Given the description of an element on the screen output the (x, y) to click on. 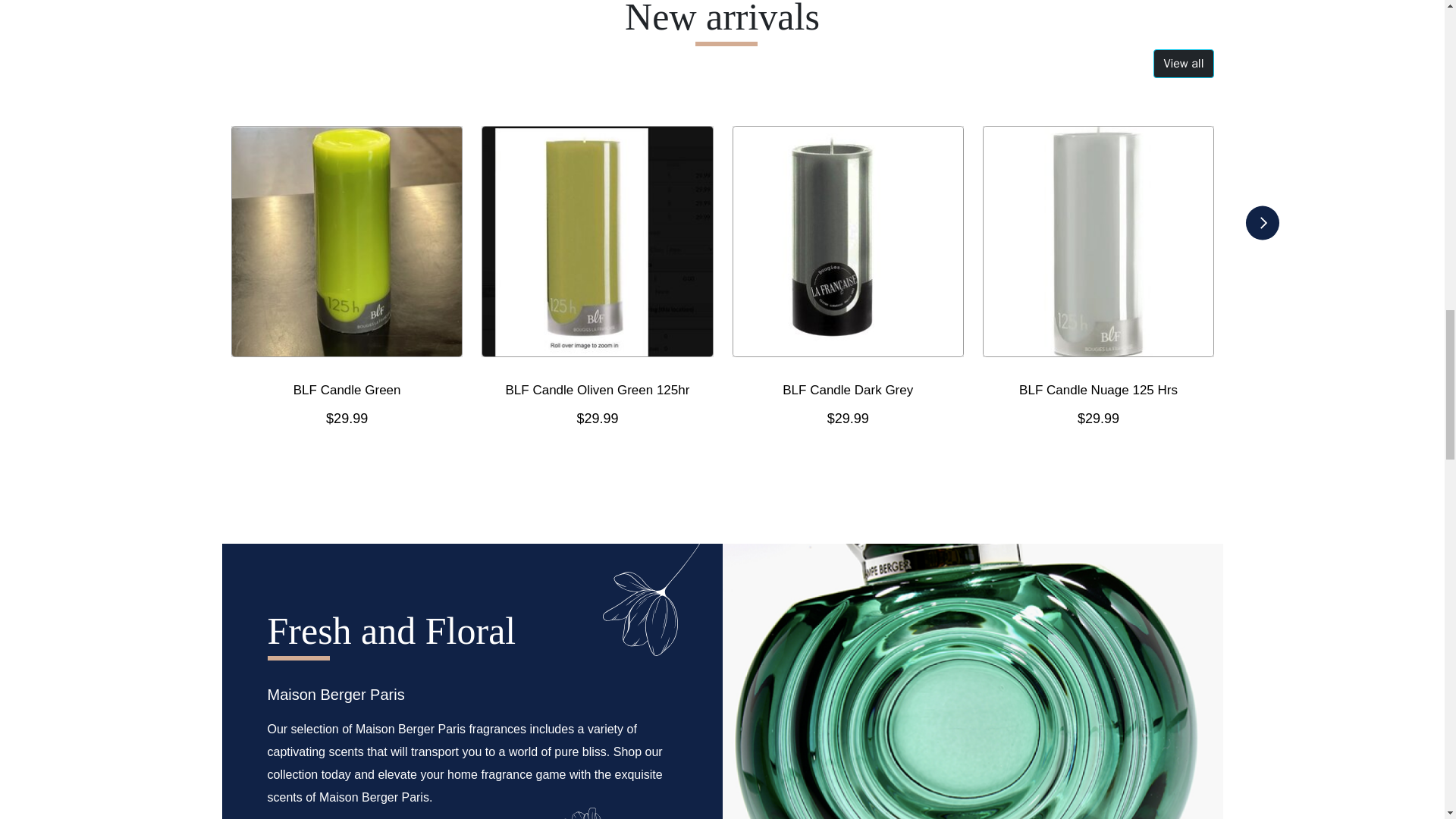
Bougie La Francaise BLF Candle Oliven Green 125hr (597, 241)
Bougie La Francaise BLF Candle Nuage 125 Hrs (1096, 241)
Bougie La Francaise BLF Candle Dark Grey (847, 241)
Bougie La Francaise BLF Candle Green (345, 241)
